Given the description of an element on the screen output the (x, y) to click on. 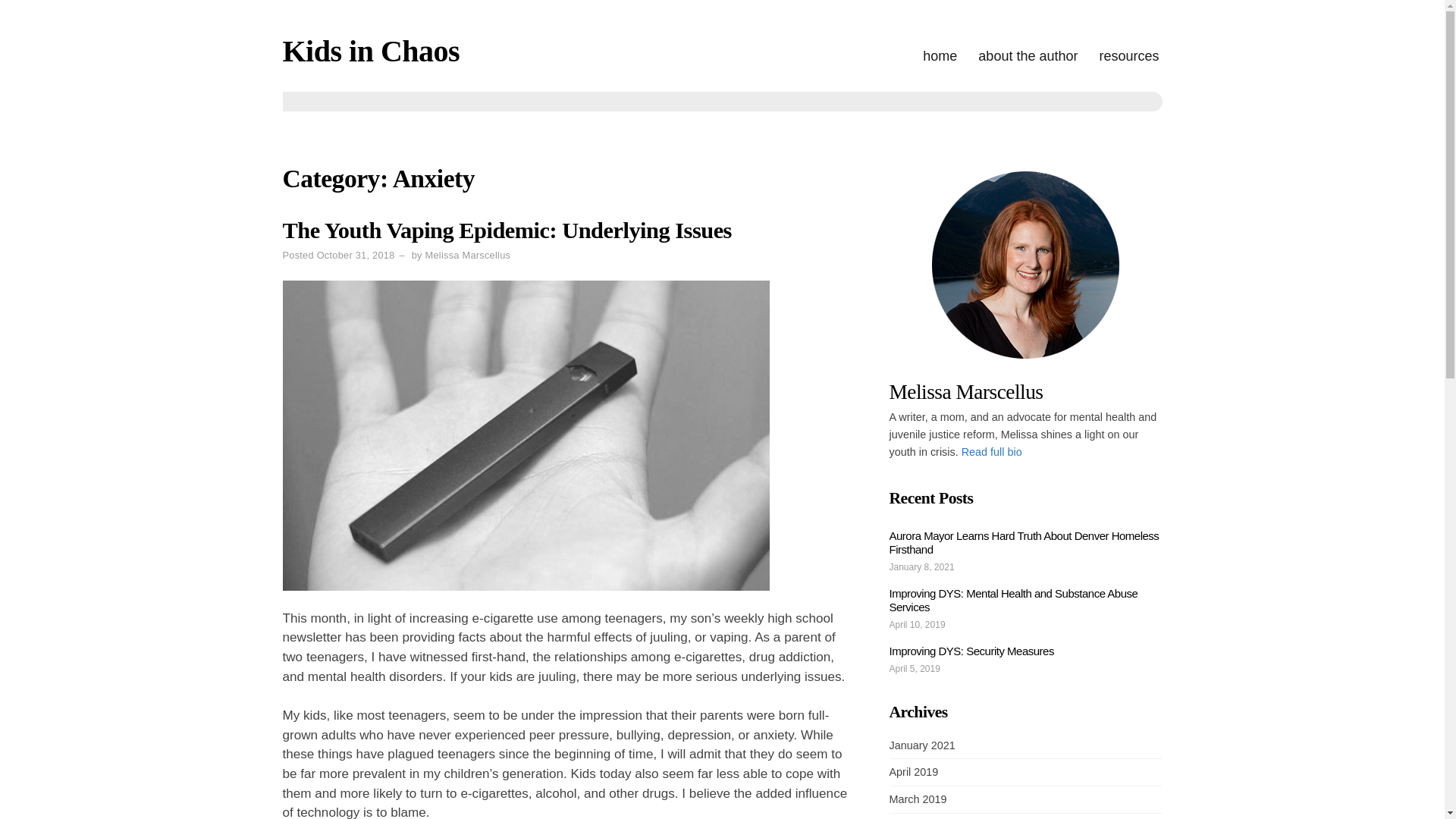
Kids in Chaos (371, 50)
resources (1128, 56)
Melissa Marscellus (468, 255)
Improving DYS: Mental Health and Substance Abuse Services (1012, 600)
Read full bio (991, 451)
home (939, 56)
Improving DYS: Security Measures (970, 650)
about the author (1027, 56)
Improving DYS: Security Measures (970, 650)
The Youth Vaping Epidemic: Underlying Issues (506, 230)
Improving DYS: Mental Health and Substance Abuse Services (1012, 600)
October 31, 2018 (355, 255)
April 2019 (912, 771)
